Given the description of an element on the screen output the (x, y) to click on. 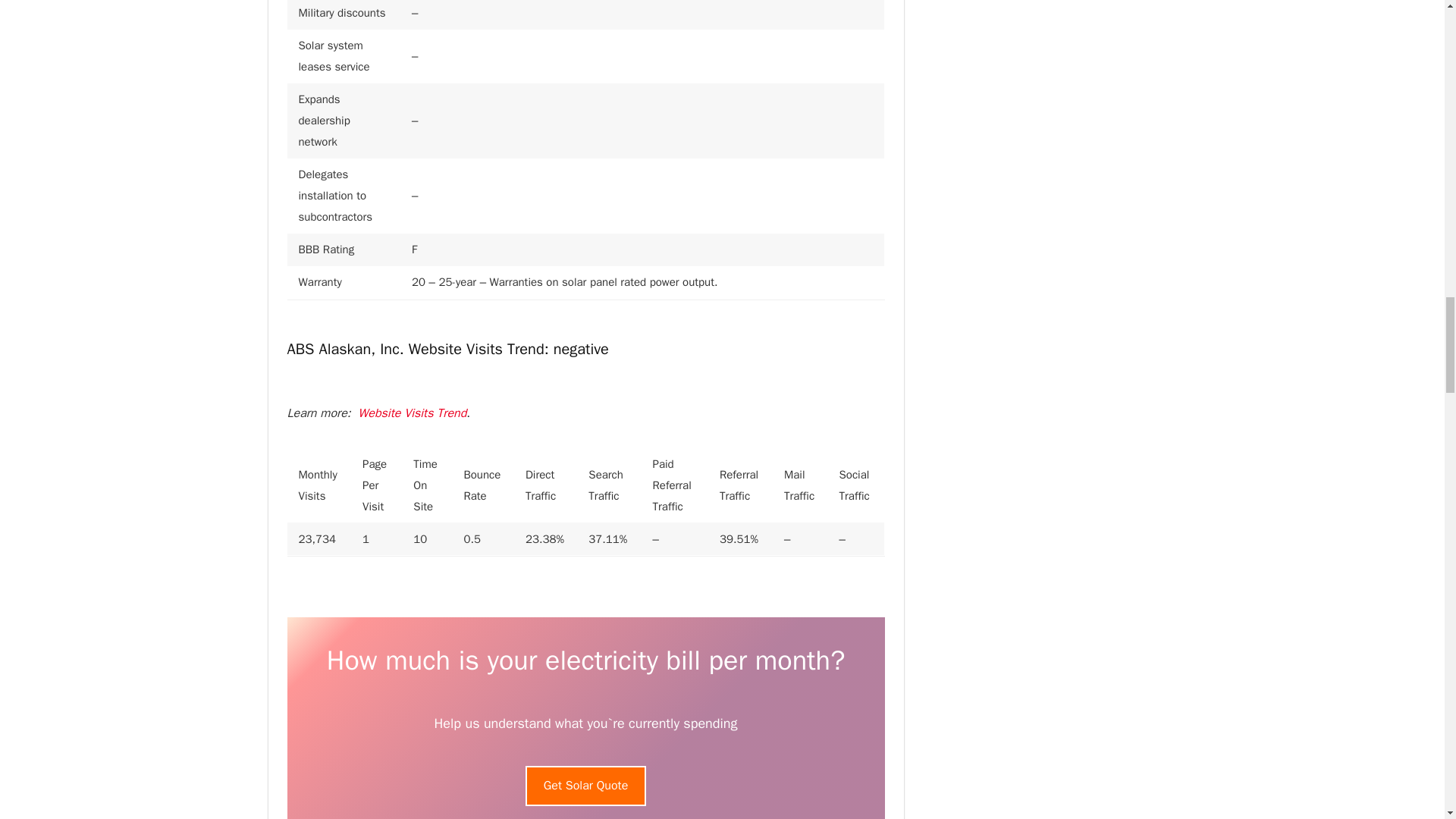
ABS Alaskan, Inc. review 1 (584, 718)
